Given the description of an element on the screen output the (x, y) to click on. 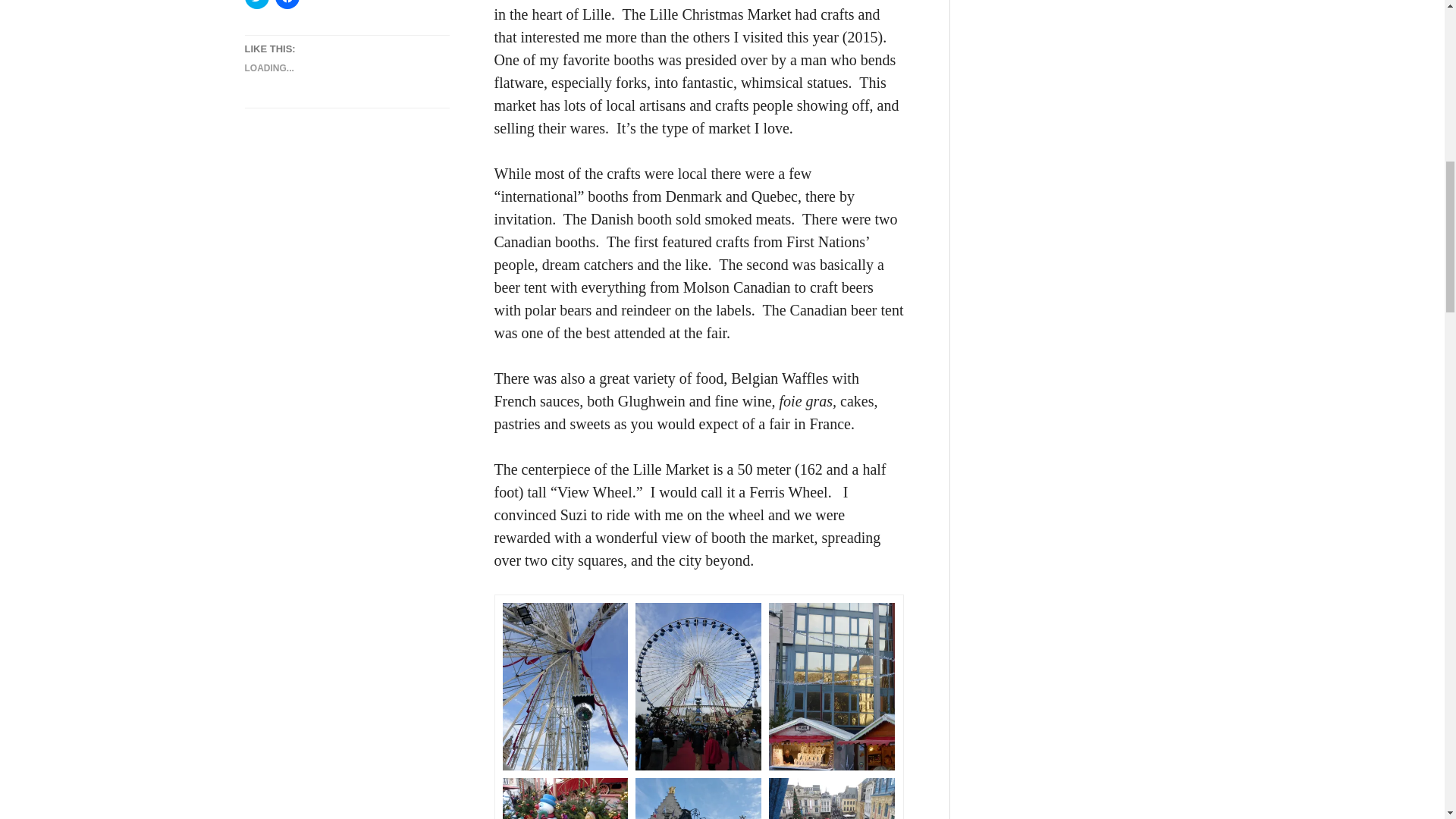
Click to share on Facebook (286, 4)
Click to share on Twitter (255, 4)
